Given the description of an element on the screen output the (x, y) to click on. 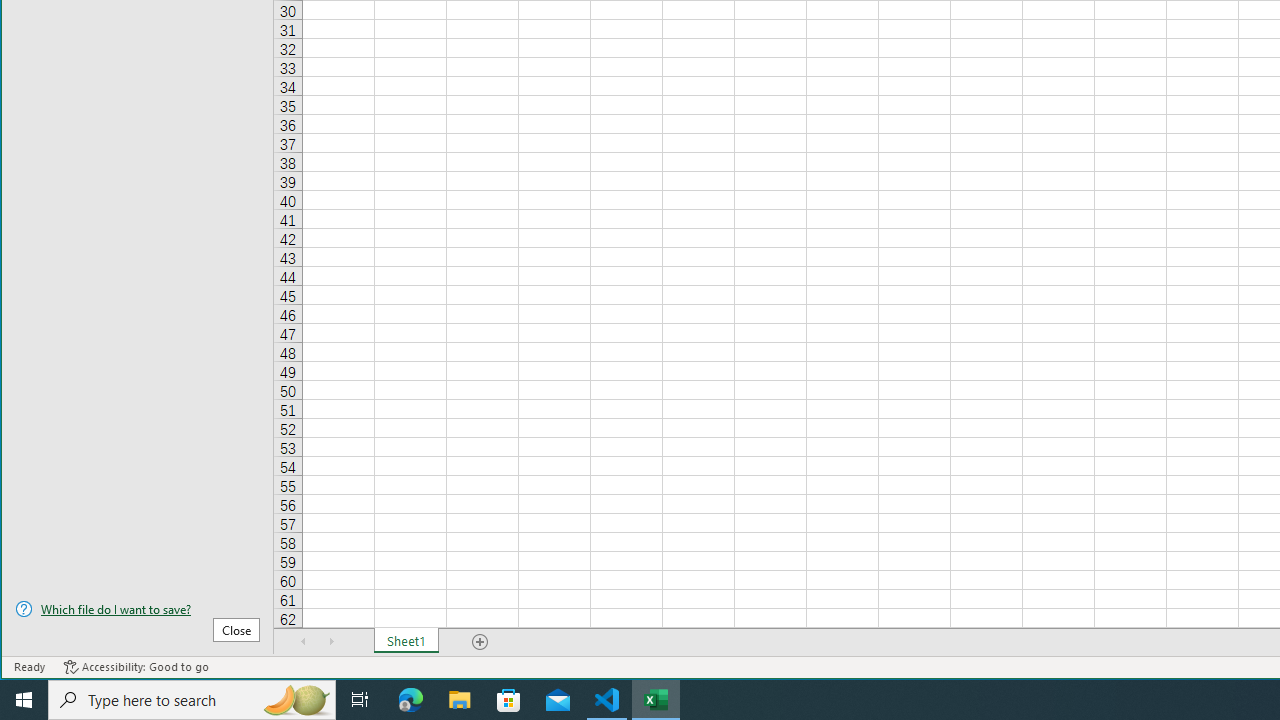
Visual Studio Code - 1 running window (607, 699)
Microsoft Edge (411, 699)
Start (24, 699)
Search highlights icon opens search home window (295, 699)
File Explorer (460, 699)
Task View (359, 699)
Excel - 1 running window (656, 699)
Microsoft Store (509, 699)
